Given the description of an element on the screen output the (x, y) to click on. 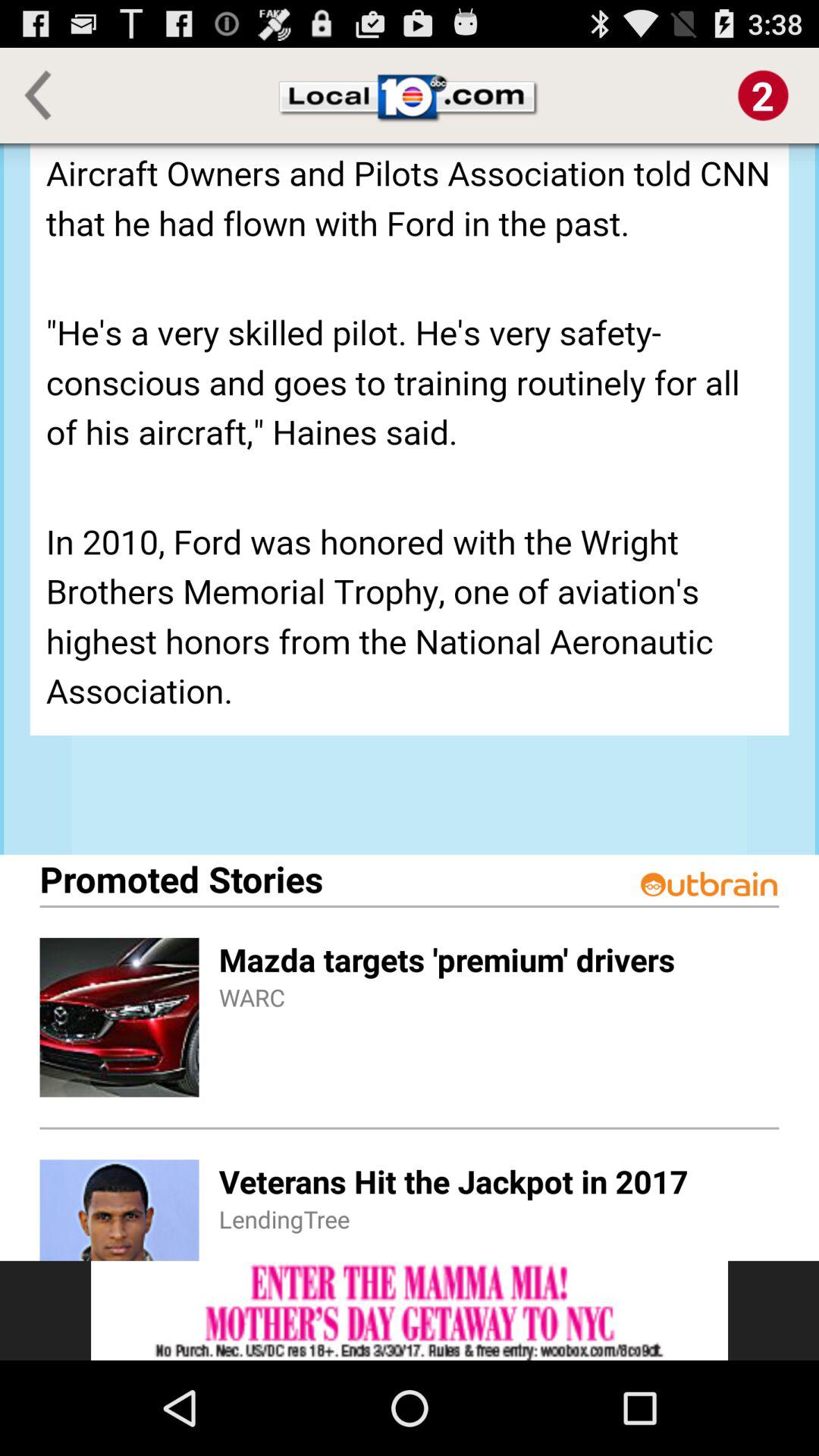
select number two (762, 95)
